Given the description of an element on the screen output the (x, y) to click on. 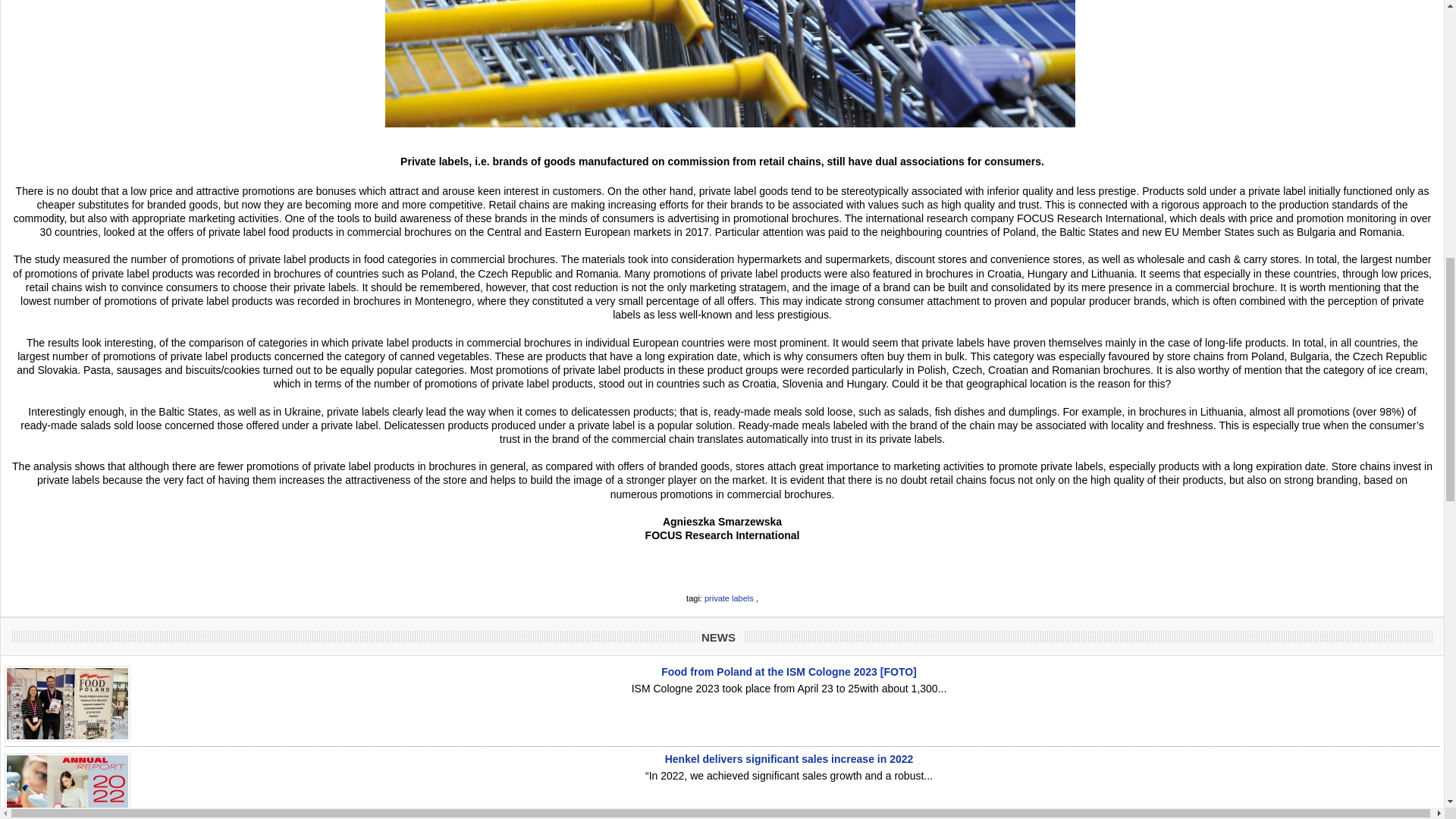
NEWS (721, 637)
private labels (729, 597)
private labels (729, 597)
Henkel-delivers-significant-sales-increase-in-2022 (67, 785)
Food-from-Poland-at-the-ISM-Cologne-2023-FOTO (67, 703)
Henkel delivers significant sales increase in 2022 (789, 758)
